Given the description of an element on the screen output the (x, y) to click on. 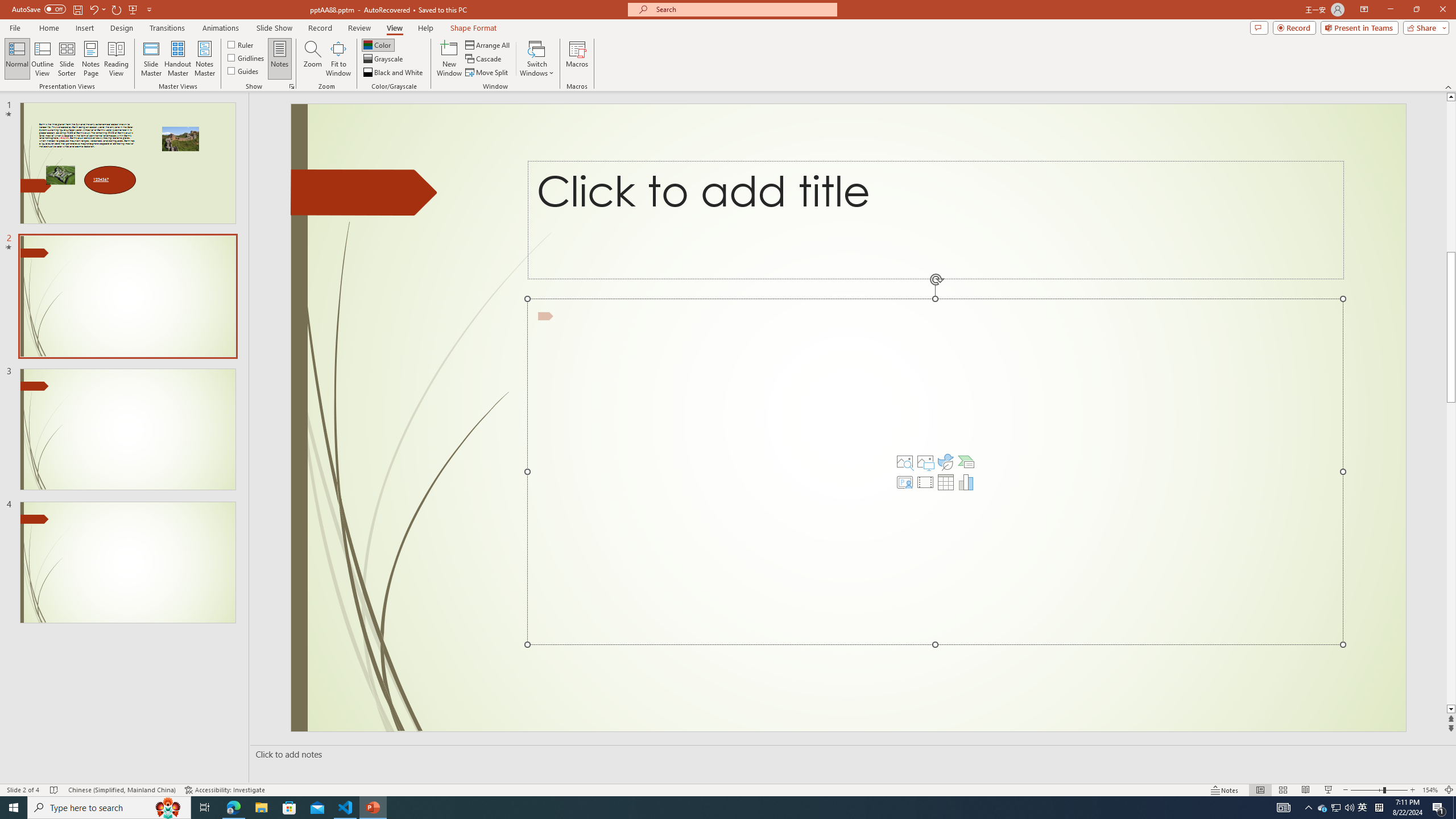
Color (377, 44)
Ruler (241, 44)
Move Split (487, 72)
Gridlines (246, 56)
New Window (449, 58)
Zoom... (312, 58)
